Given the description of an element on the screen output the (x, y) to click on. 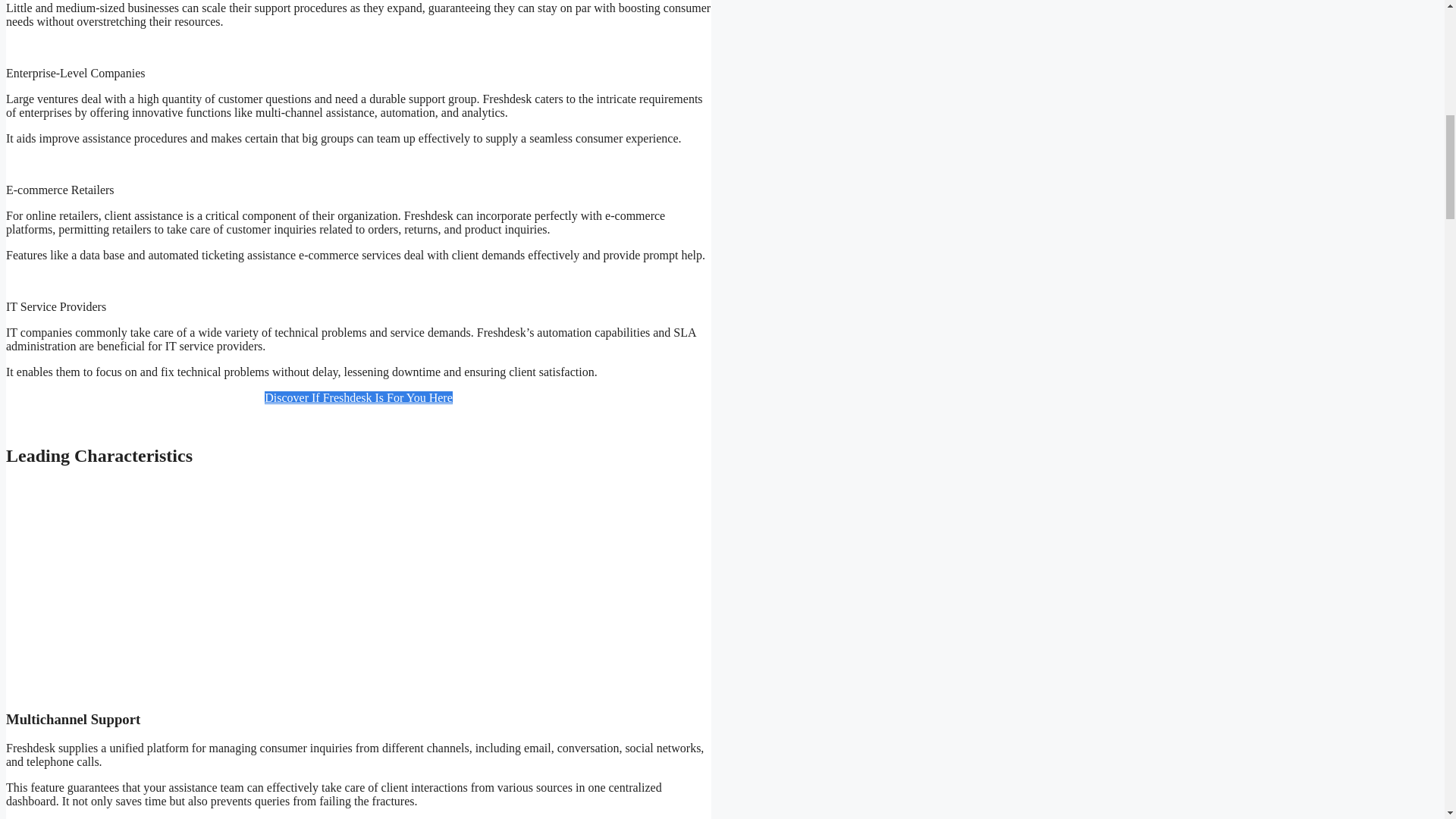
Discover If Freshdesk Is For You Here (358, 397)
